Given the description of an element on the screen output the (x, y) to click on. 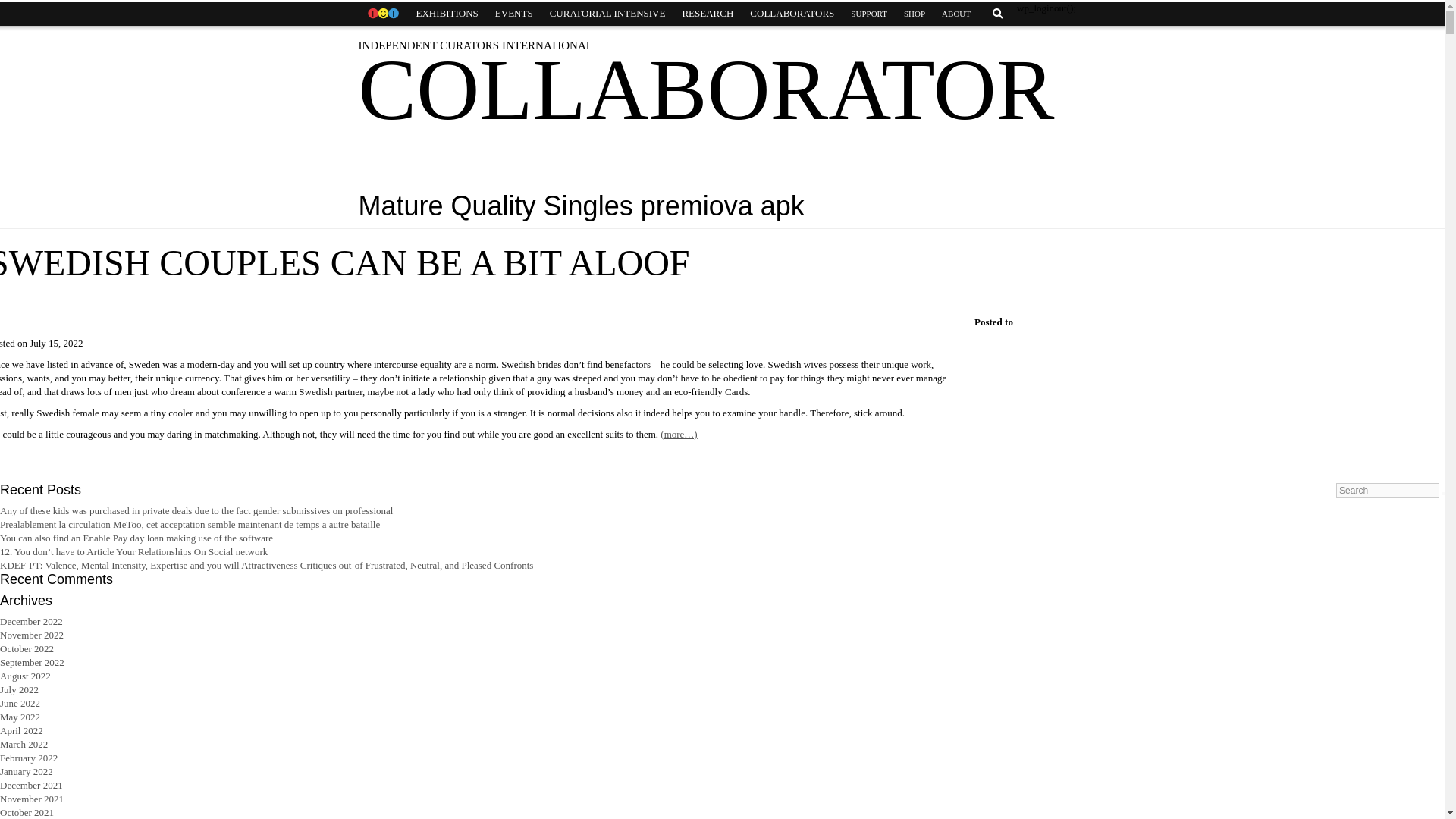
HOME (382, 13)
CURATORIAL INTENSIVE (607, 13)
EVENTS (513, 13)
RESEARCH (706, 13)
EXHIBITIONS (446, 13)
COLLABORATORS (792, 13)
